Given the description of an element on the screen output the (x, y) to click on. 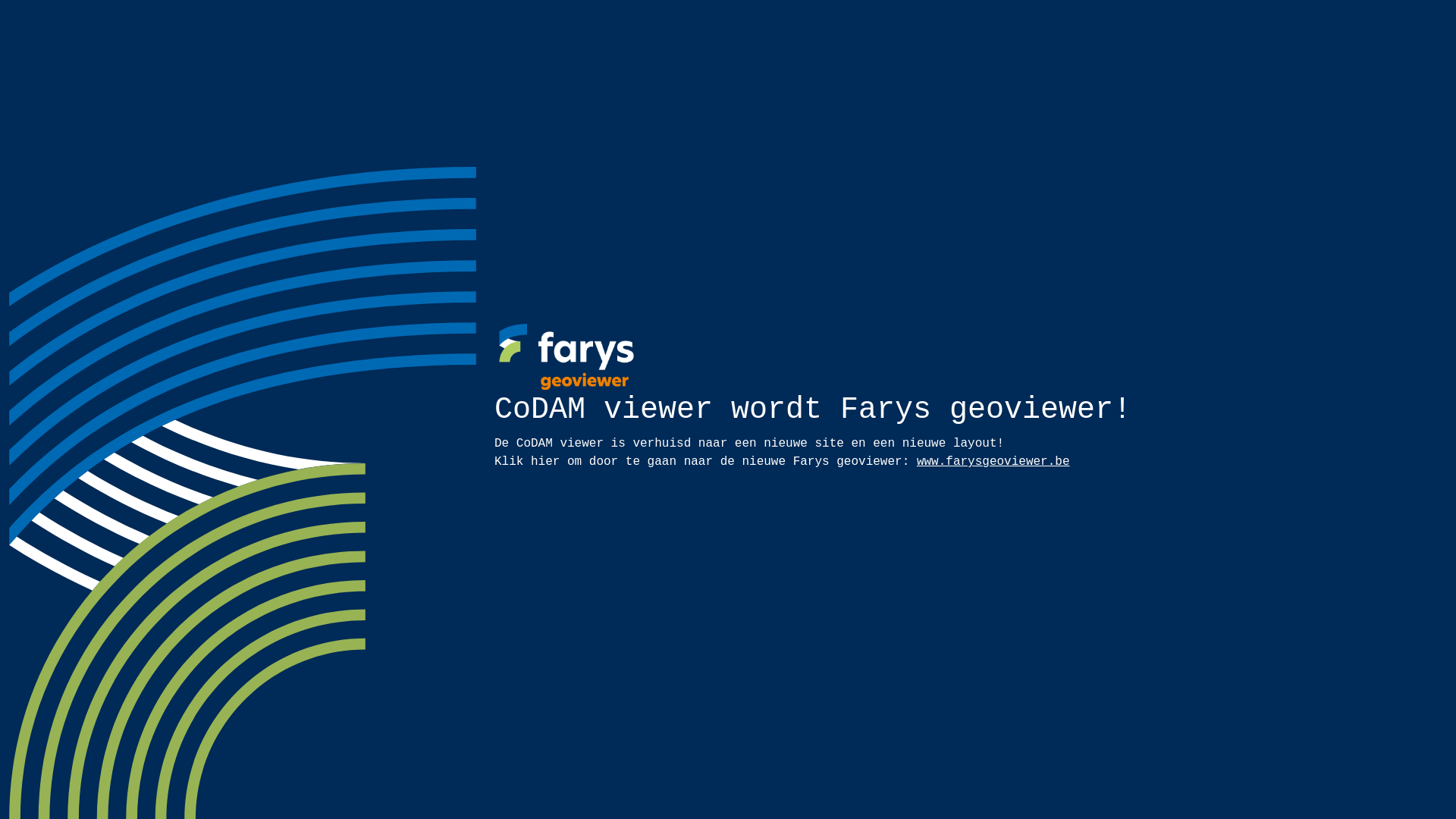
www.farysgeoviewer.be Element type: text (993, 461)
